Given the description of an element on the screen output the (x, y) to click on. 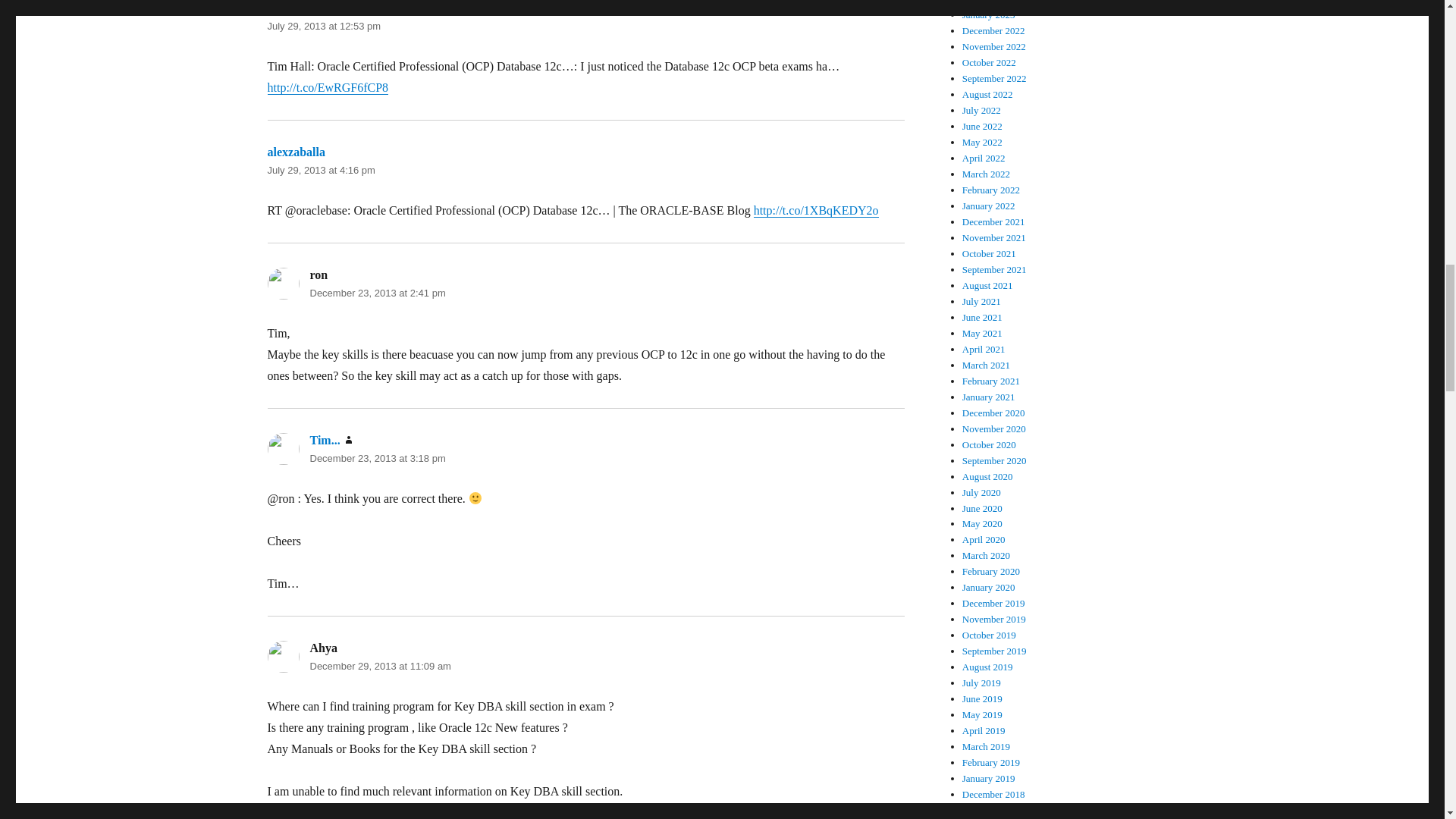
orafaq (283, 7)
alexzaballa (295, 151)
Tim... (323, 440)
December 23, 2013 at 3:18 pm (376, 458)
July 29, 2013 at 4:16 pm (320, 170)
December 29, 2013 at 11:09 am (378, 665)
December 23, 2013 at 2:41 pm (376, 292)
July 29, 2013 at 12:53 pm (323, 25)
